Given the description of an element on the screen output the (x, y) to click on. 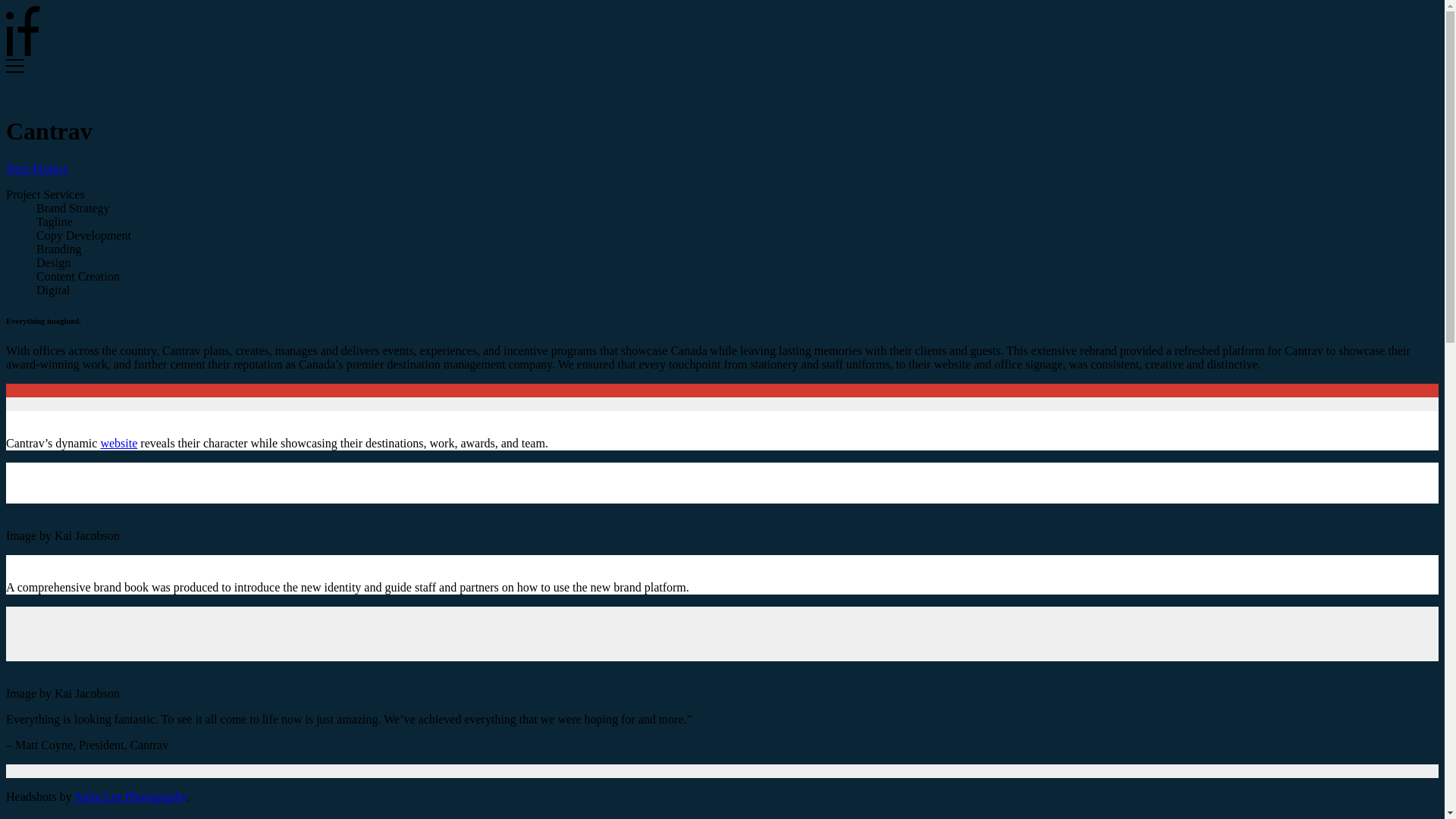
Anita Lee Photography (130, 796)
website (118, 442)
Next Project (35, 168)
